Given the description of an element on the screen output the (x, y) to click on. 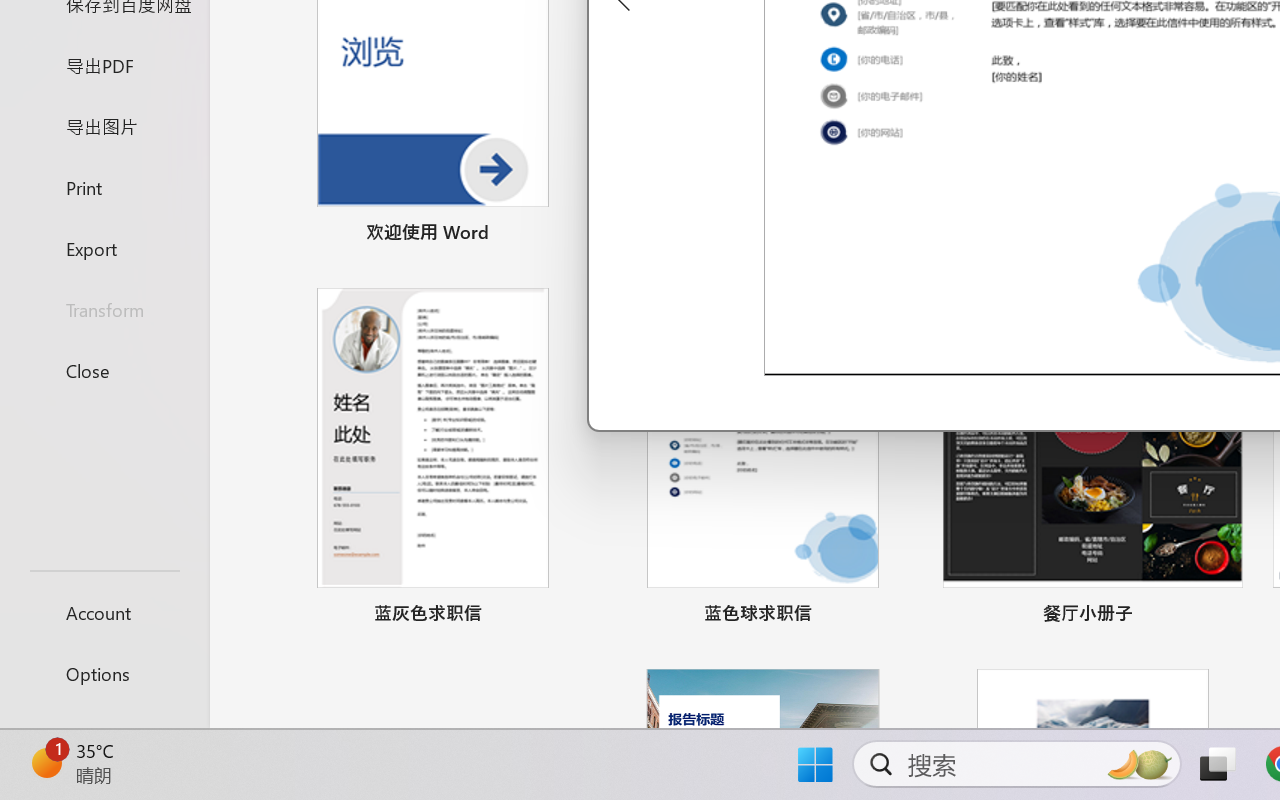
Pin to list (1223, 616)
